Given the description of an element on the screen output the (x, y) to click on. 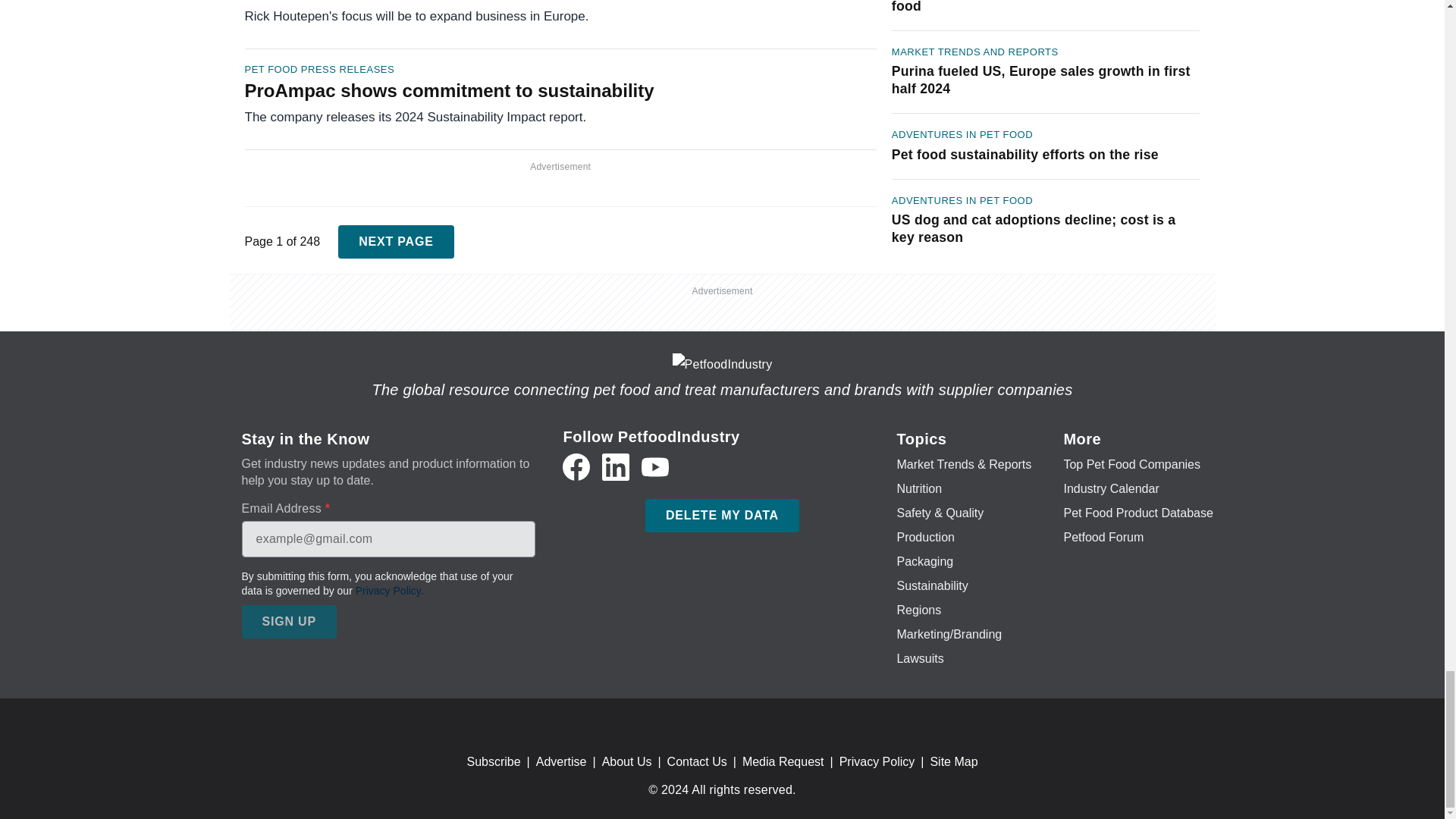
LinkedIn icon (615, 466)
Facebook icon (575, 466)
YouTube icon (655, 466)
